Given the description of an element on the screen output the (x, y) to click on. 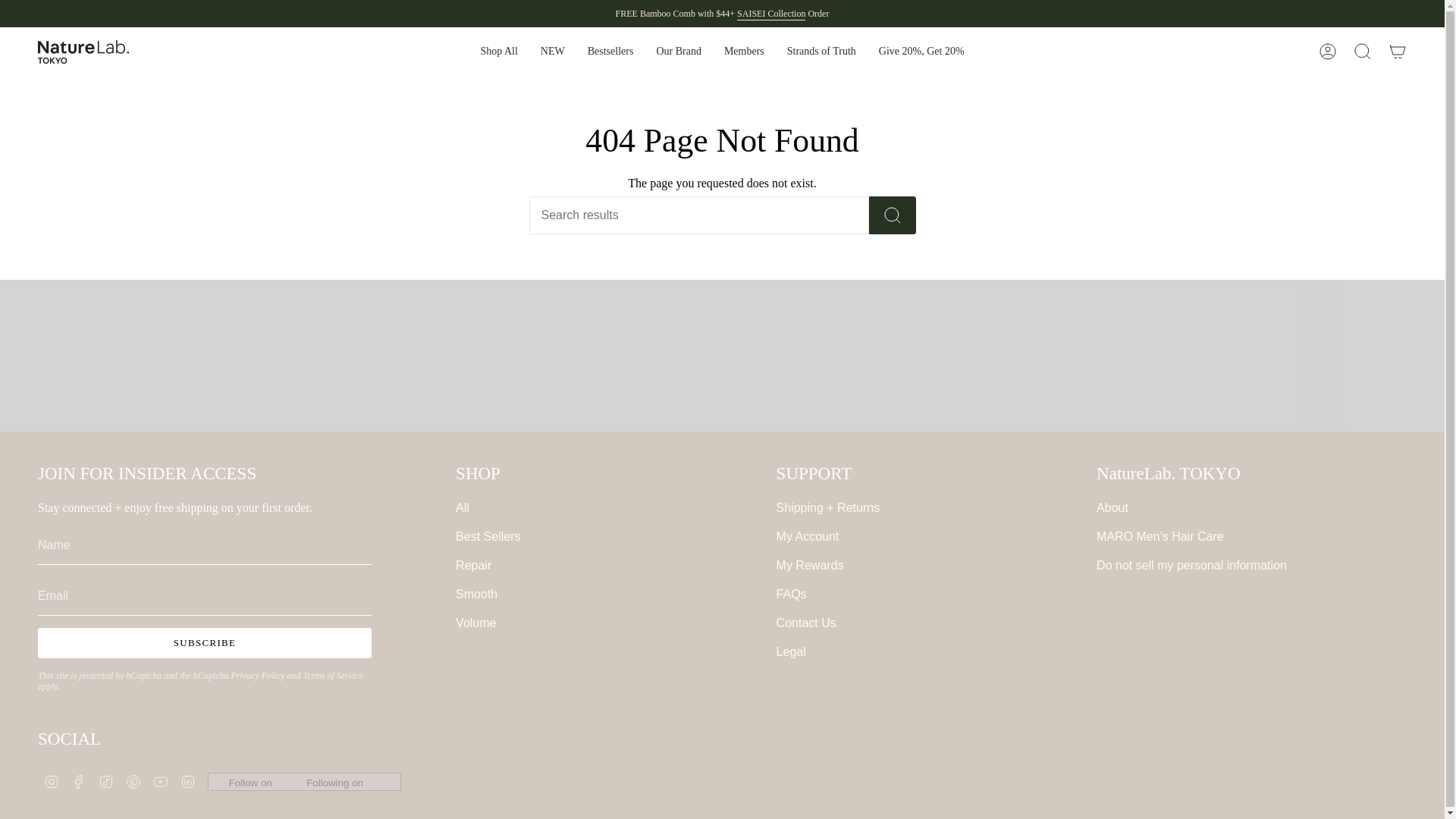
NatureLab Tokyo on Pinterest (133, 780)
SAISEI Collection (770, 15)
Cart (1397, 51)
NatureLab Tokyo on Instagram (51, 780)
Search (1362, 51)
Shop All (498, 51)
NatureLab Tokyo on Linkedin (187, 780)
Saisei Collection (770, 15)
My Account (1327, 51)
NatureLab Tokyo on YouTube (160, 780)
